Given the description of an element on the screen output the (x, y) to click on. 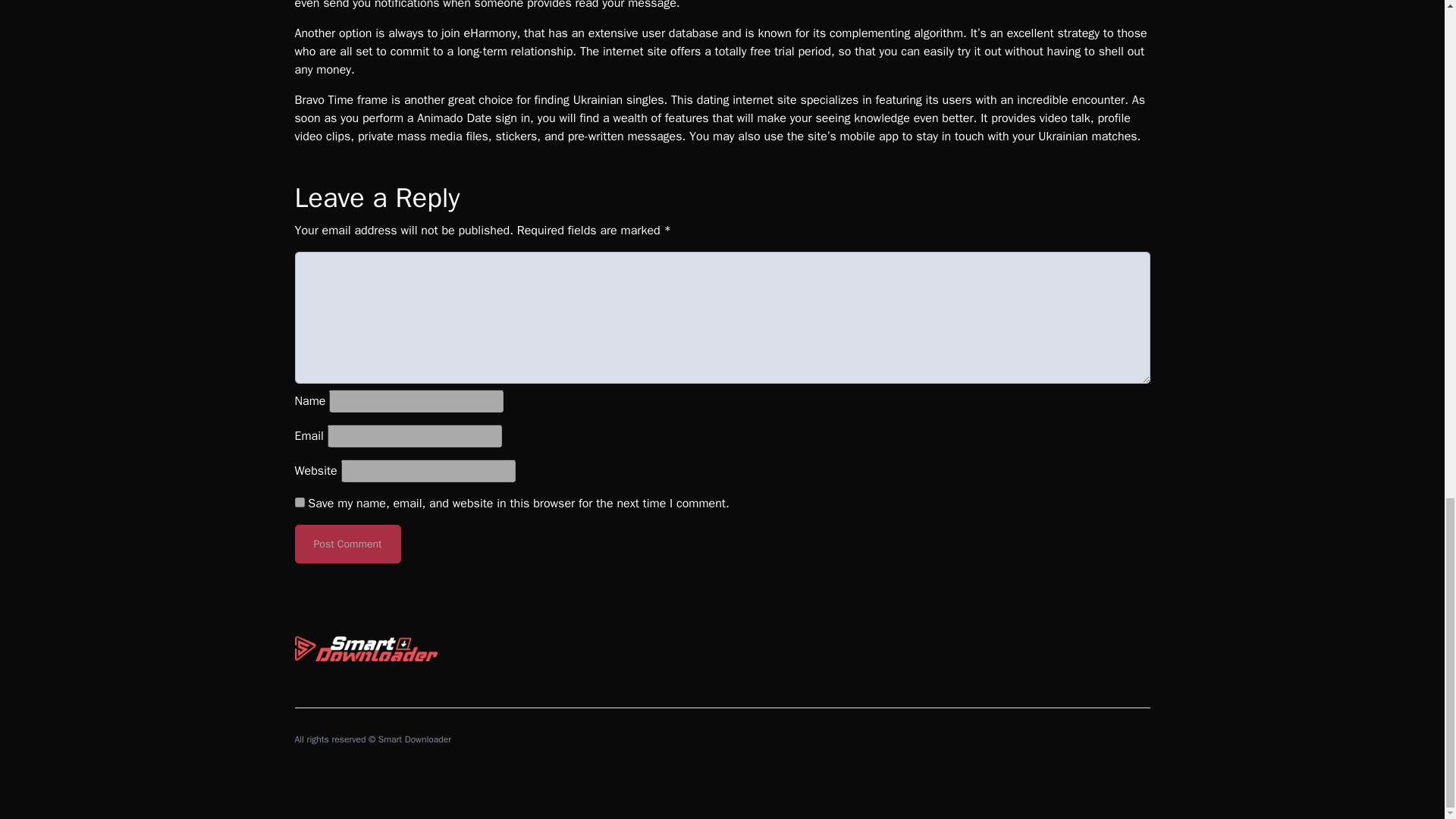
Post Comment (347, 544)
Post Comment (347, 544)
yes (299, 501)
